Given the description of an element on the screen output the (x, y) to click on. 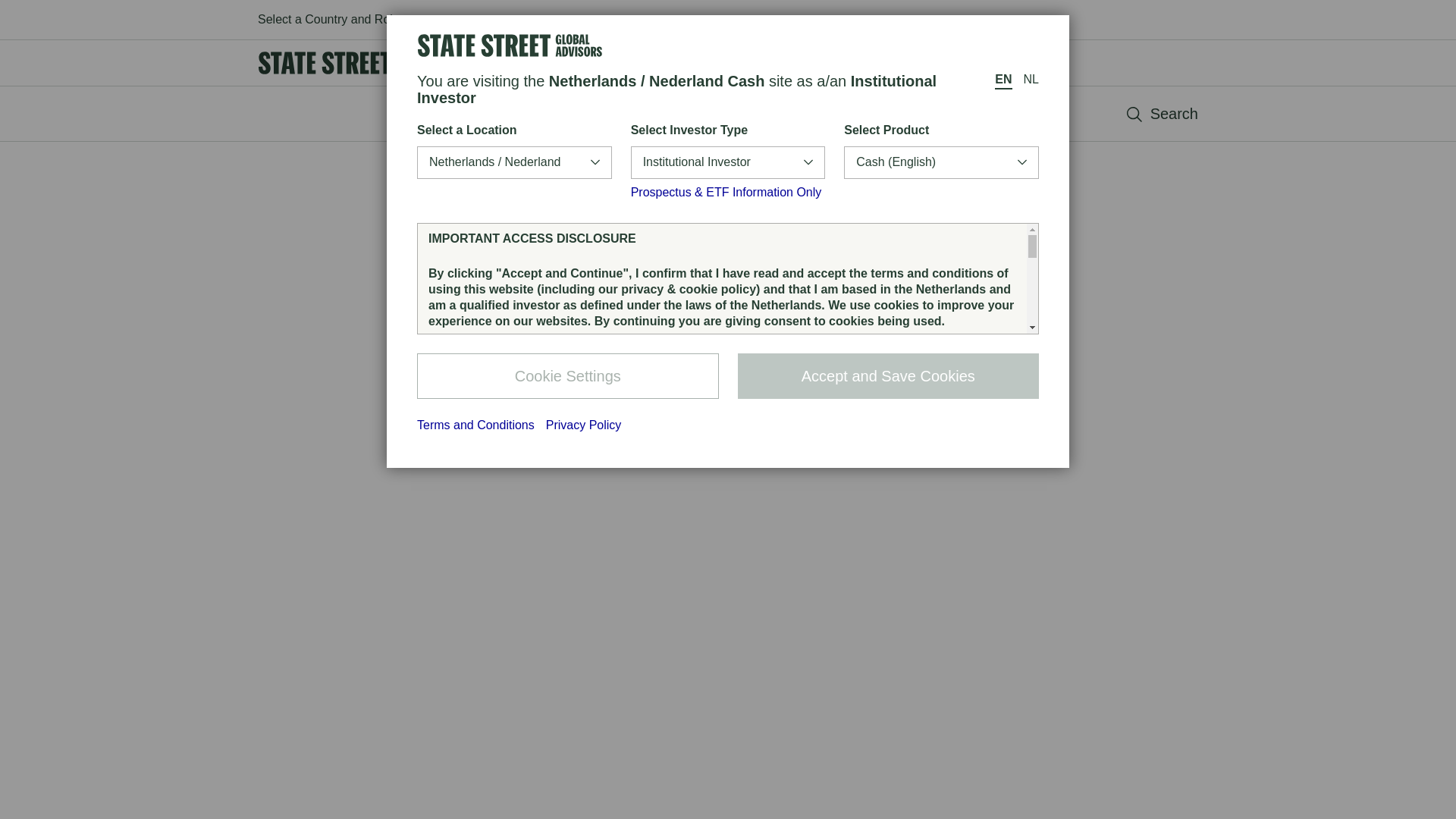
Search (1162, 112)
